Given the description of an element on the screen output the (x, y) to click on. 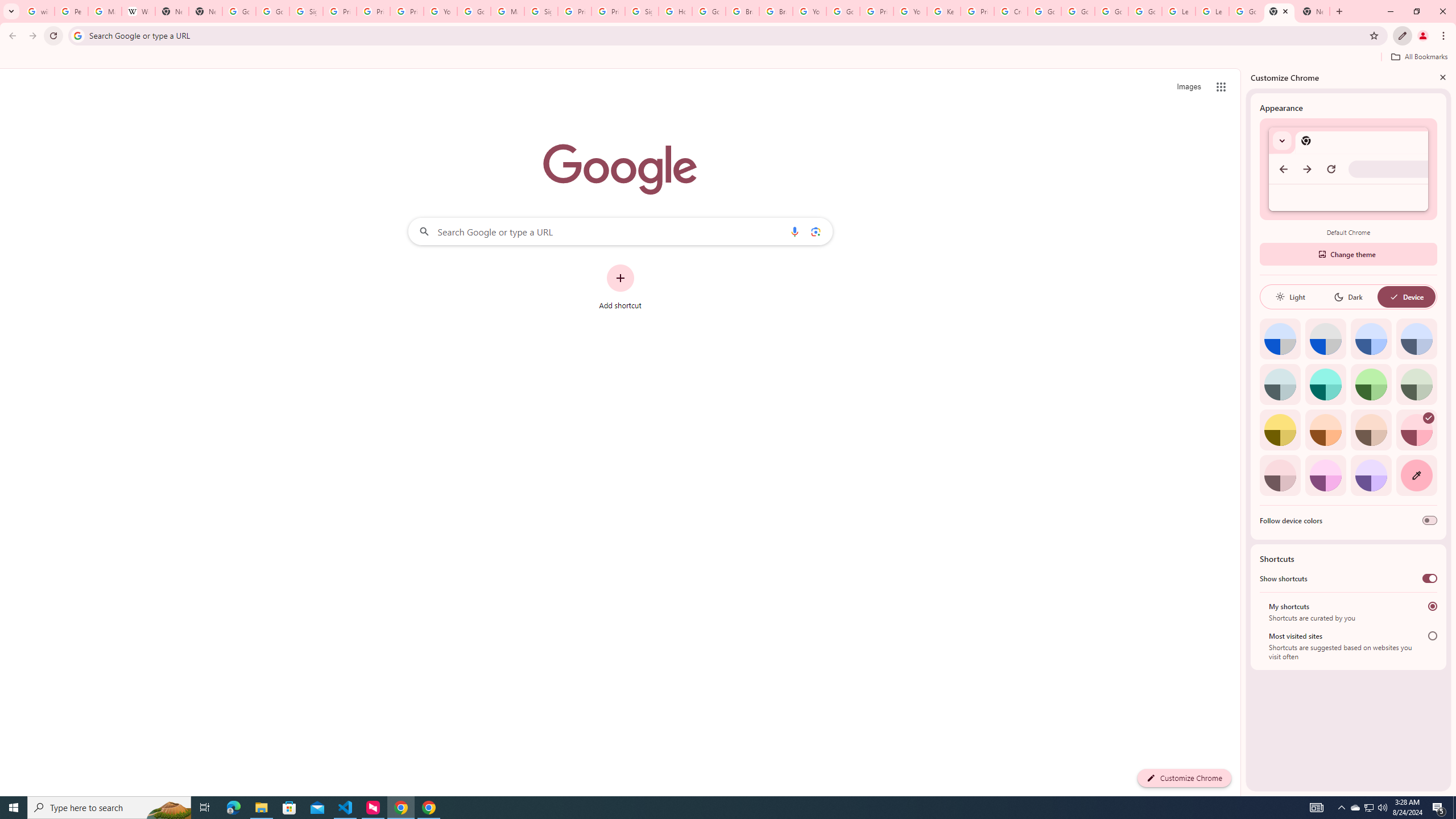
Orange (1325, 429)
Viridian (1416, 383)
Google Account Help (1144, 11)
Google Account (1246, 11)
Blue (1371, 338)
Sign in - Google Accounts (541, 11)
Rose (1416, 429)
Wikipedia:Edit requests - Wikipedia (138, 11)
